Given the description of an element on the screen output the (x, y) to click on. 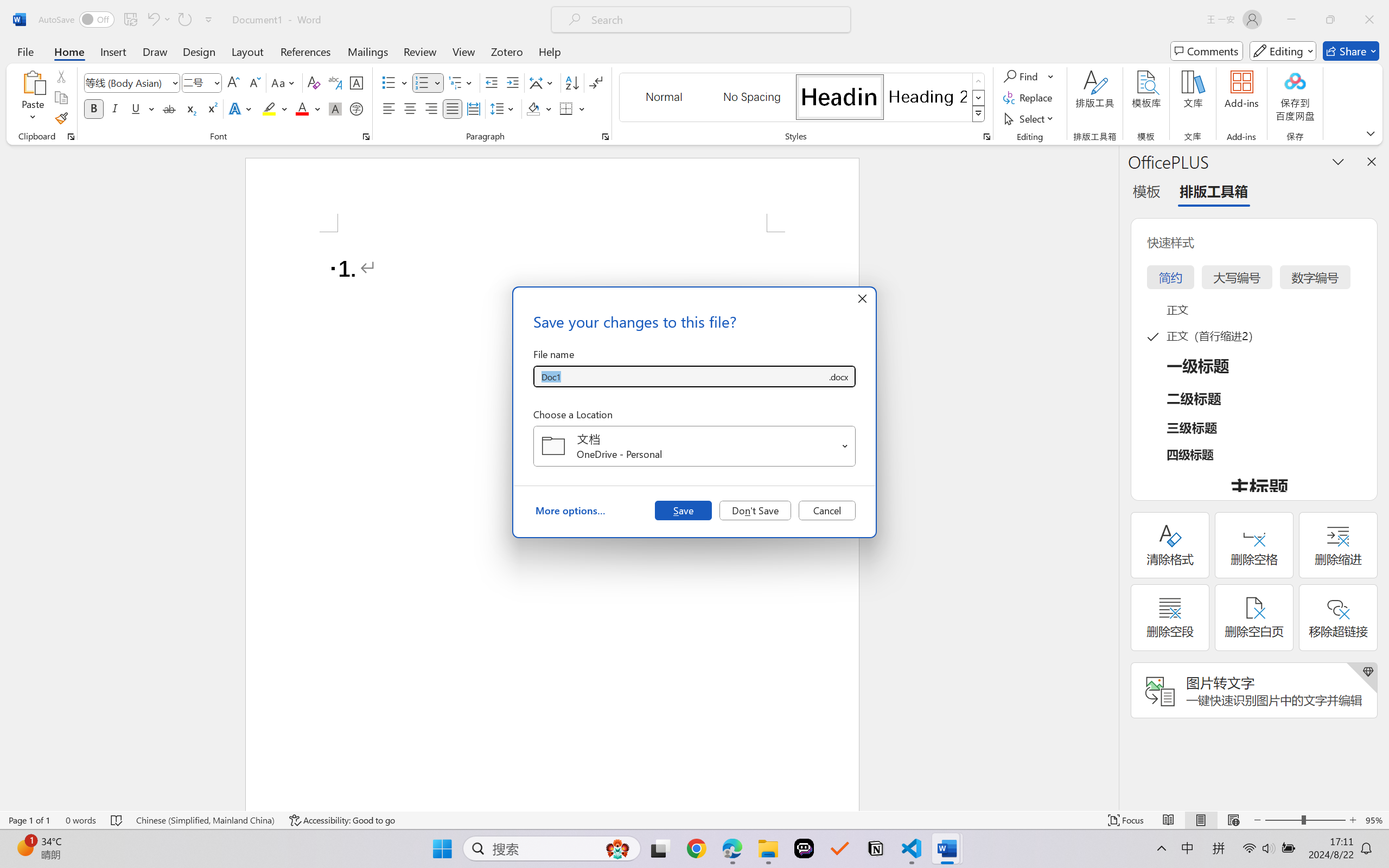
File name (680, 376)
